Given the description of an element on the screen output the (x, y) to click on. 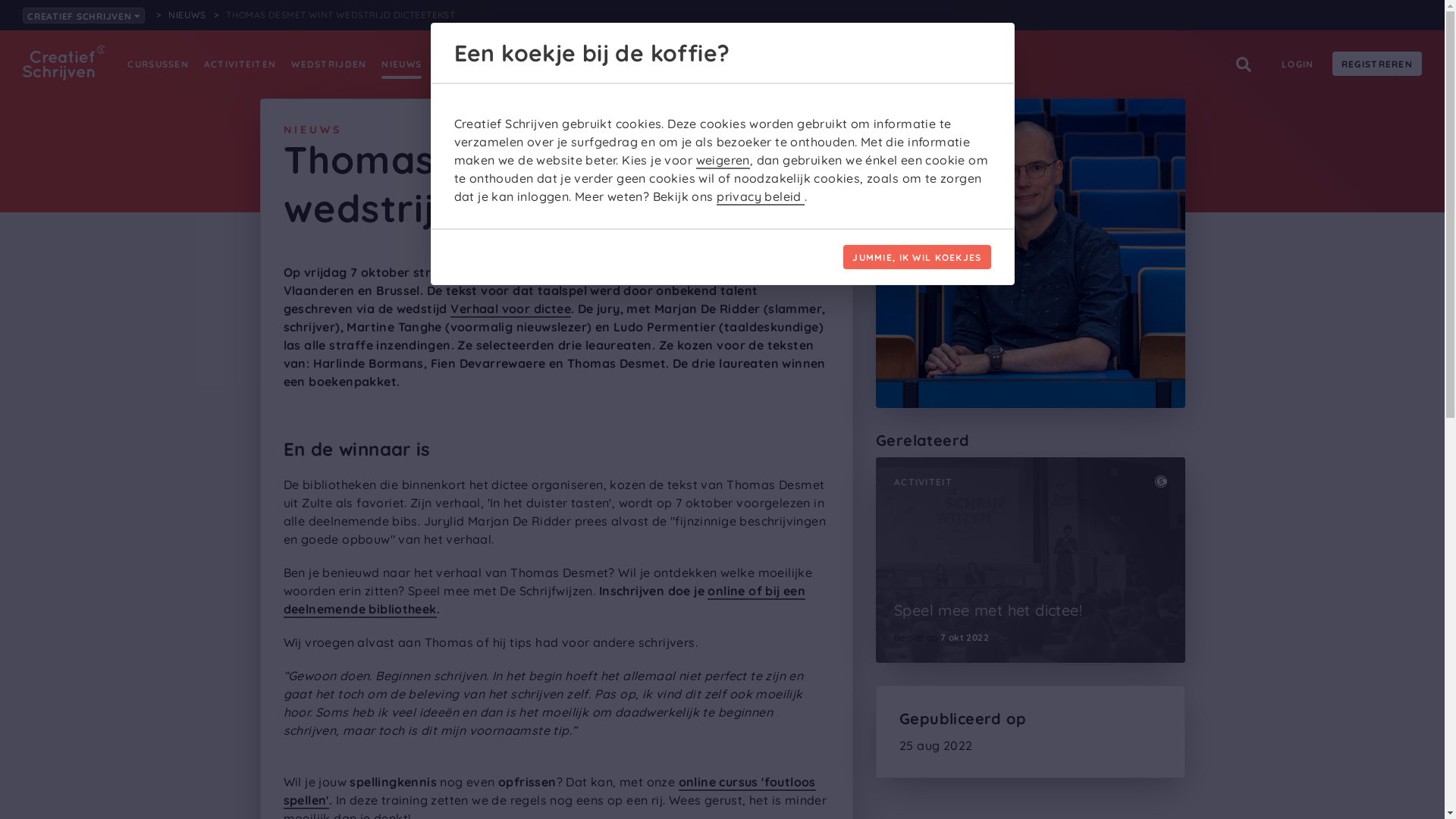
NIEUWS Element type: text (401, 64)
NIEUWS Element type: text (186, 15)
Verhaal voor dictee Element type: text (510, 309)
REGISTREREN Element type: text (1376, 63)
CURSUSSEN Element type: text (157, 64)
CREATIEF SCHRIJVEN Element type: text (83, 15)
JUMMIE, IK WIL KOEKJES Element type: text (916, 256)
De Schrijfwijzen Element type: text (579, 272)
COMMUNITY Element type: text (521, 64)
Search Element type: hover (1243, 64)
privacy beleid Element type: text (760, 196)
ADVIES Element type: text (455, 64)
LOGIN Element type: text (1297, 64)
online cursus 'foutloos spellen' Element type: text (549, 791)
weigeren Element type: text (722, 160)
SHOP Element type: text (581, 64)
online of bij een deelnemende bibliotheek Element type: text (544, 600)
ACTIVITEIT
Speel mee met het dictee!
Begint op 7 okt 2022 Element type: text (1030, 559)
ACTIVITEITEN Element type: text (239, 64)
WEDSTRIJDEN Element type: text (328, 64)
